Given the description of an element on the screen output the (x, y) to click on. 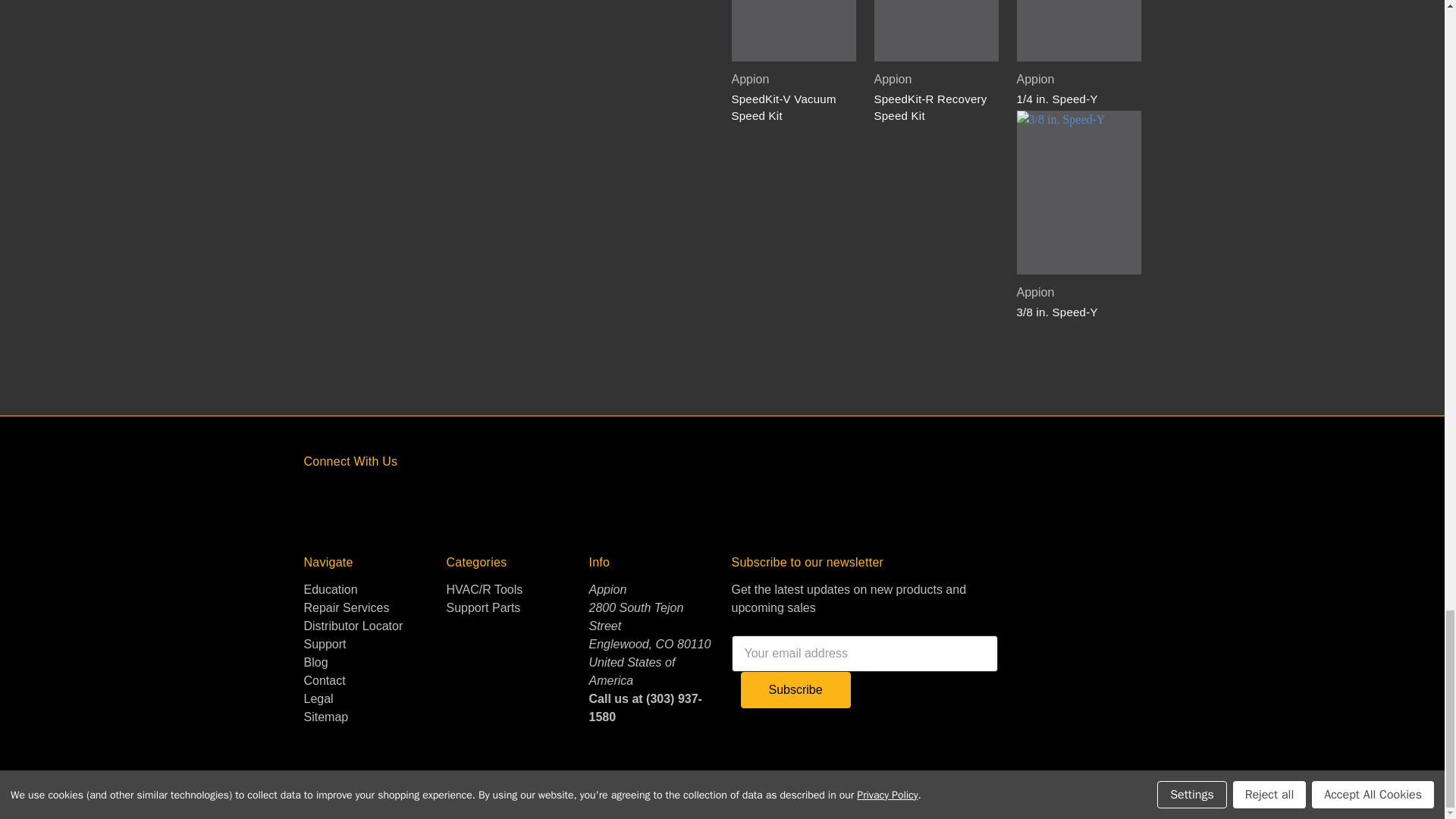
SpeedKit-V (793, 30)
Subscribe (794, 689)
SpeedKit-R (935, 30)
